Given the description of an element on the screen output the (x, y) to click on. 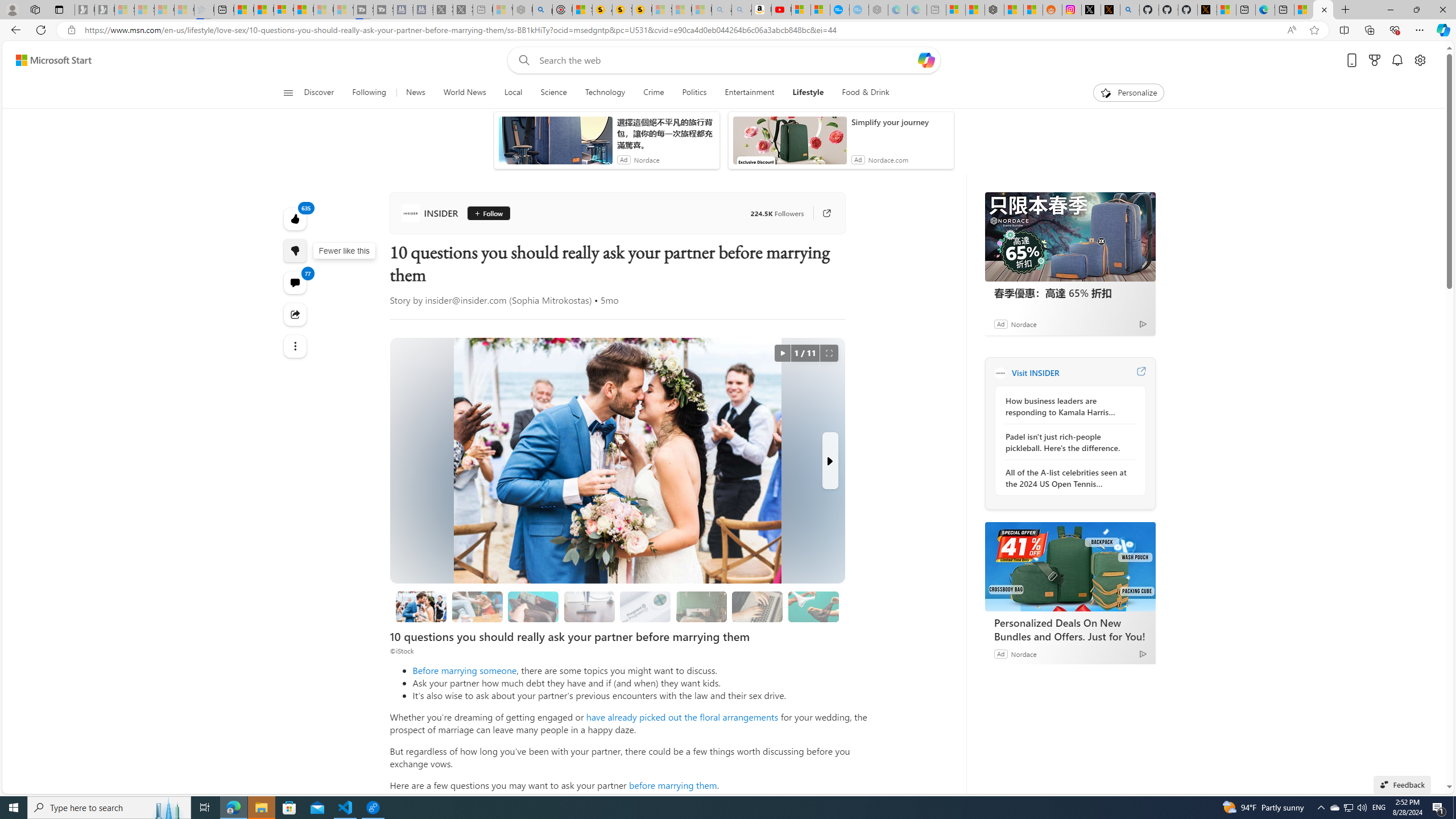
Feedback (1402, 784)
Go to publisher's site (820, 213)
Refresh (40, 29)
App bar (728, 29)
Close (1442, 9)
Split screen (1344, 29)
have already picked out the floral arrangements (681, 716)
Personalized Deals On New Bundles and Offers. Just for You! (1070, 566)
Local (513, 92)
What kind of debt do you have? (533, 606)
Microsoft Start - Sleeping (322, 9)
